Given the description of an element on the screen output the (x, y) to click on. 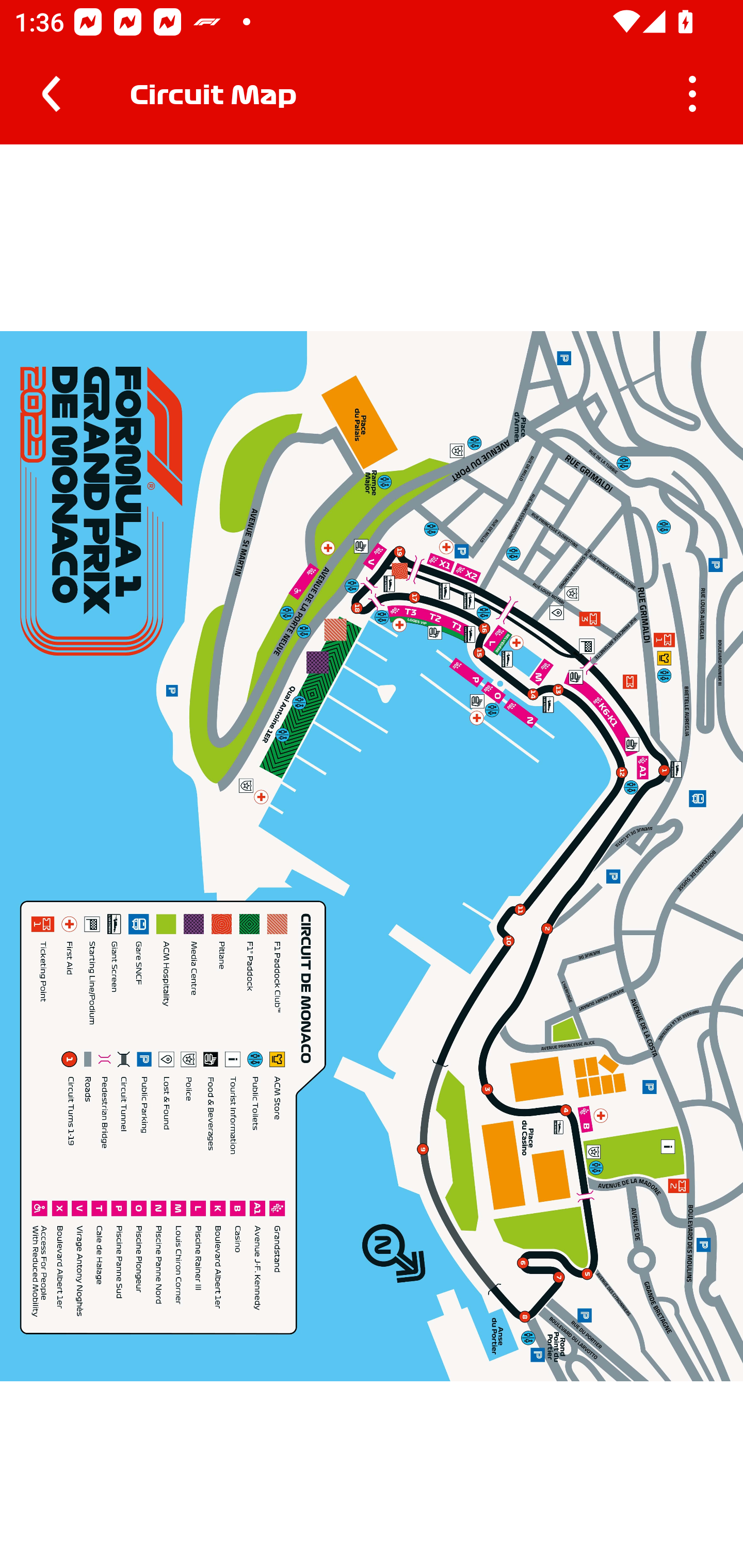
Navigate up (50, 93)
